Given the description of an element on the screen output the (x, y) to click on. 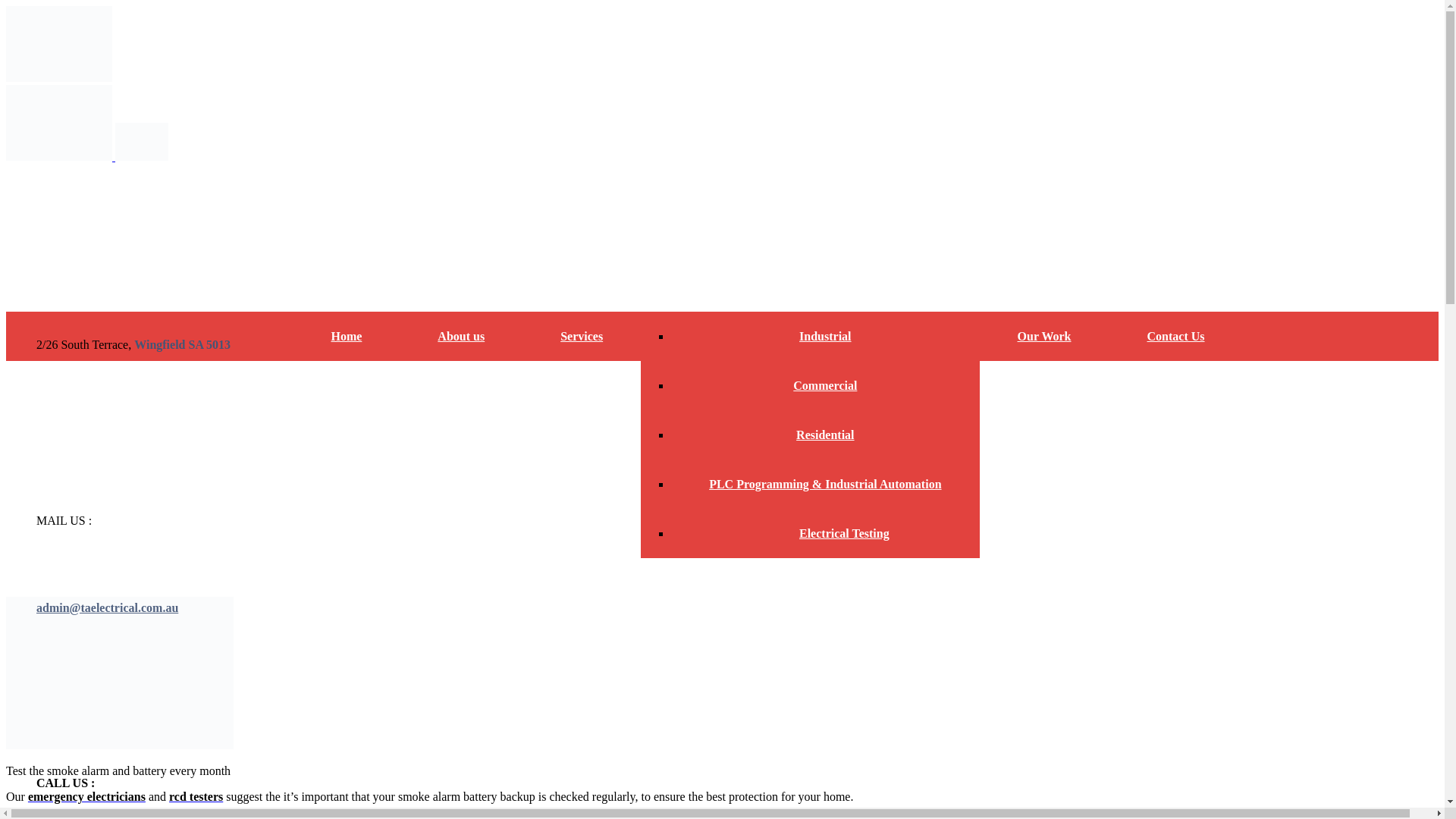
Industrial (824, 336)
emergency electricians (86, 796)
About us (460, 336)
Contact Us (1157, 336)
Electrical Testing (825, 533)
Our Work (1044, 336)
Commercial (825, 385)
Residential (824, 434)
About us (460, 336)
TA Electrical - Best Electrical Company in Adelaide (58, 77)
